Given the description of an element on the screen output the (x, y) to click on. 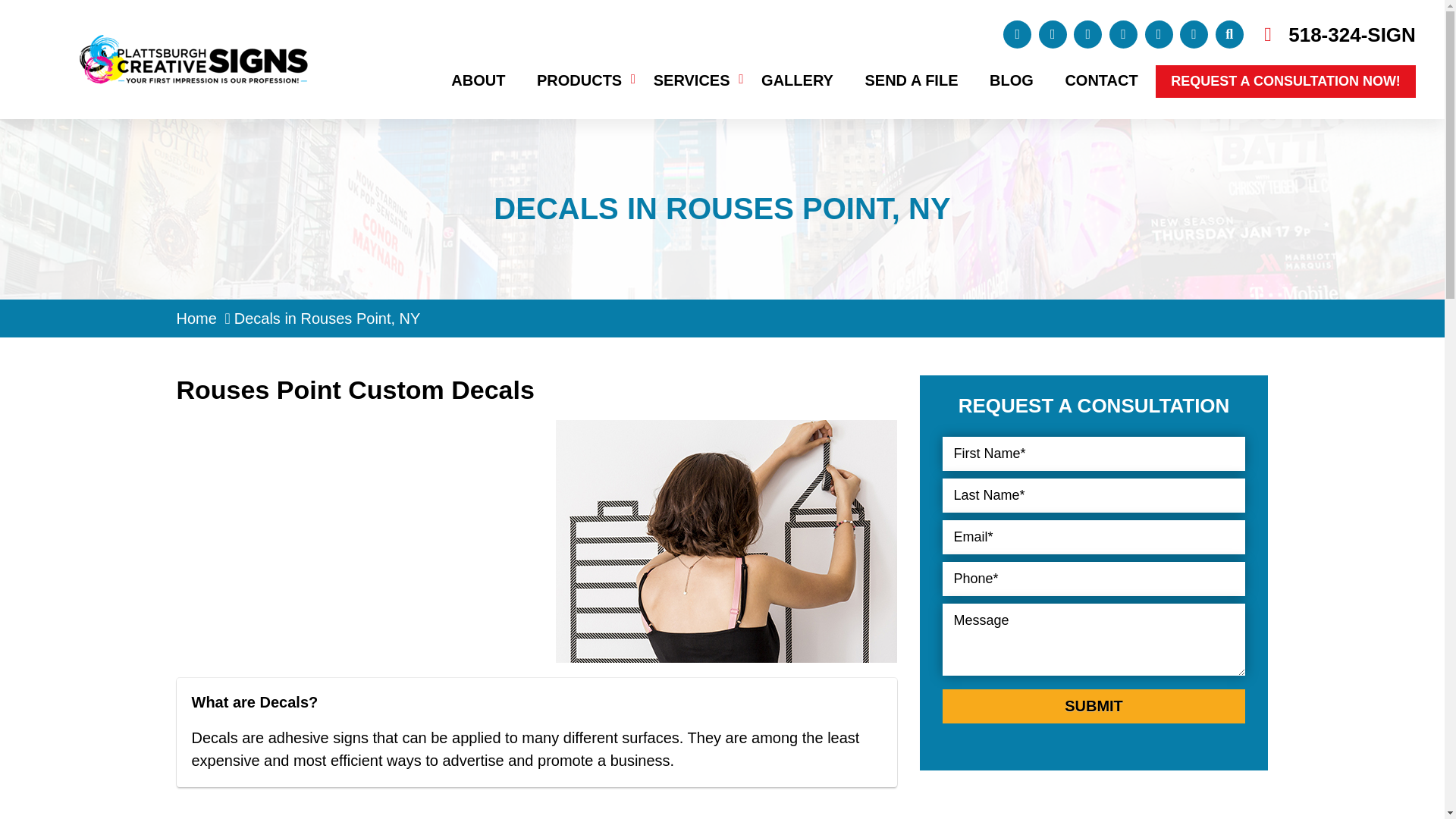
PRODUCTS (578, 79)
Go to Plattsburgh Creative Signs. (195, 318)
ABOUT (478, 79)
Submit (1093, 706)
Plattsburgh Creative Signs (193, 45)
518-324-SIGN (1351, 33)
